Given the description of an element on the screen output the (x, y) to click on. 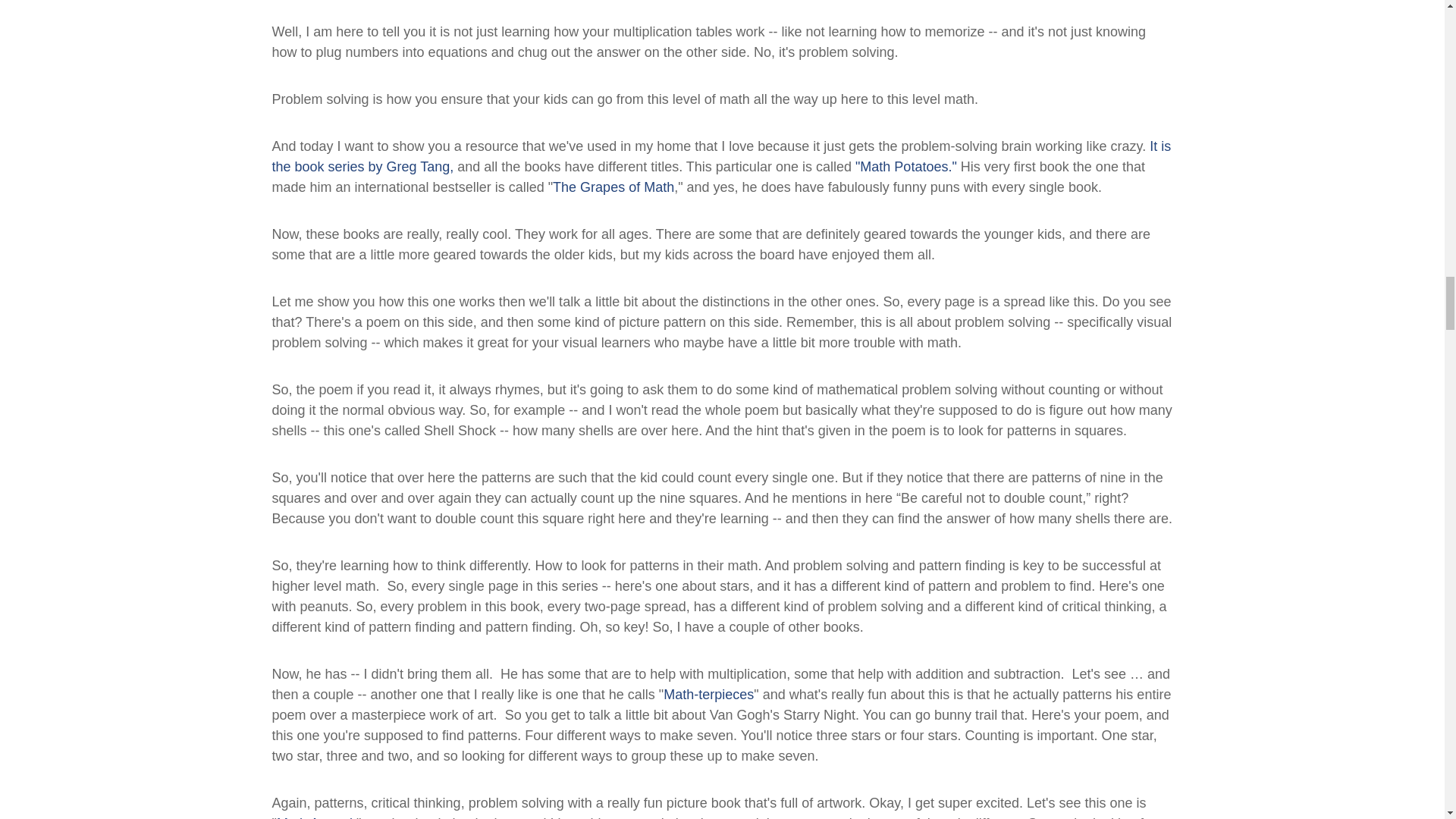
It is the book series by Greg Tang, (720, 156)
Math-terpieces (708, 694)
"Math Potatoes." (906, 166)
The Grapes of Math (613, 186)
Math Appeal, (316, 817)
